Given the description of an element on the screen output the (x, y) to click on. 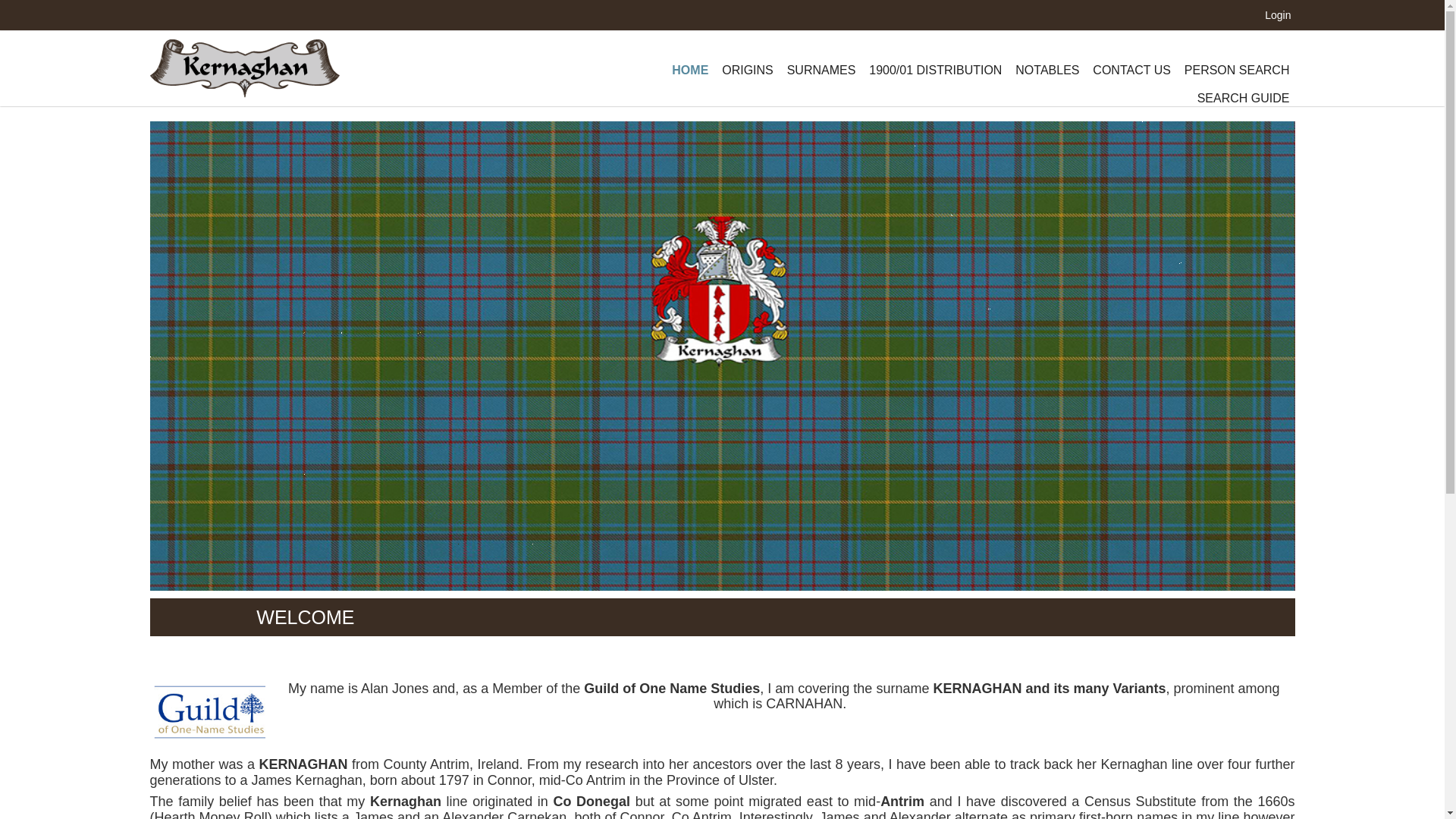
Login Element type: text (1277, 15)
PERSON SEARCH Element type: text (1237, 70)
CONTACT US Element type: text (1131, 70)
slogan Element type: hover (244, 64)
ORIGINS Element type: text (747, 70)
SEARCH GUIDE Element type: text (1243, 98)
HOME Element type: text (689, 70)
NOTABLES Element type: text (1047, 70)
SURNAMES Element type: text (821, 70)
1900/01 DISTRIBUTION Element type: text (935, 70)
